Given the description of an element on the screen output the (x, y) to click on. 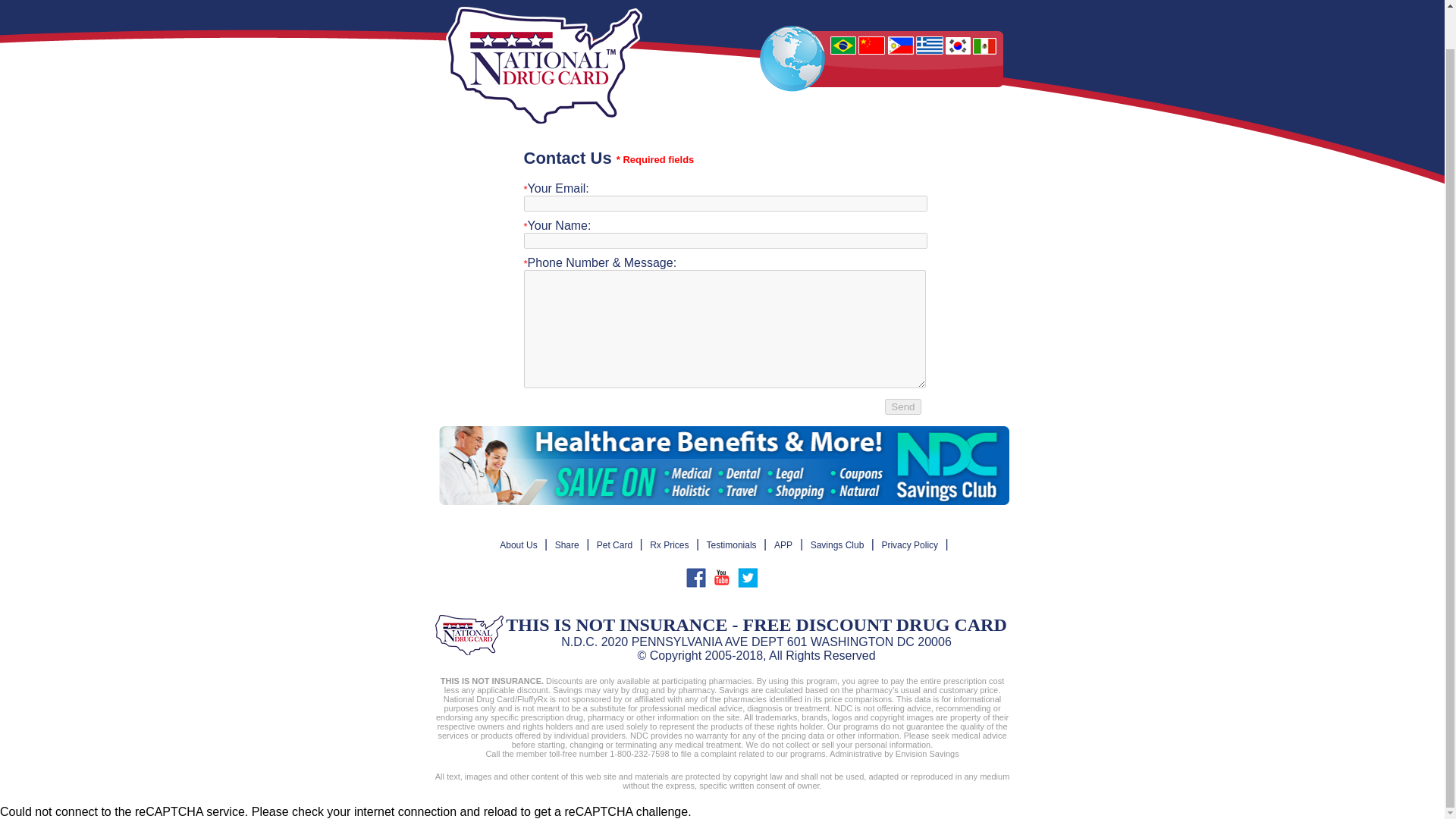
About Us (518, 545)
Testimonials (731, 545)
APP (783, 545)
Savings Club (964, 1)
Savings Club (836, 545)
Privacy Policy (909, 545)
Home (462, 1)
Share (567, 545)
Contact Us (887, 1)
About Us (519, 1)
Send (902, 406)
Pet Card (758, 1)
Send (902, 406)
Print Card (652, 1)
Rx Prices (584, 1)
